Given the description of an element on the screen output the (x, y) to click on. 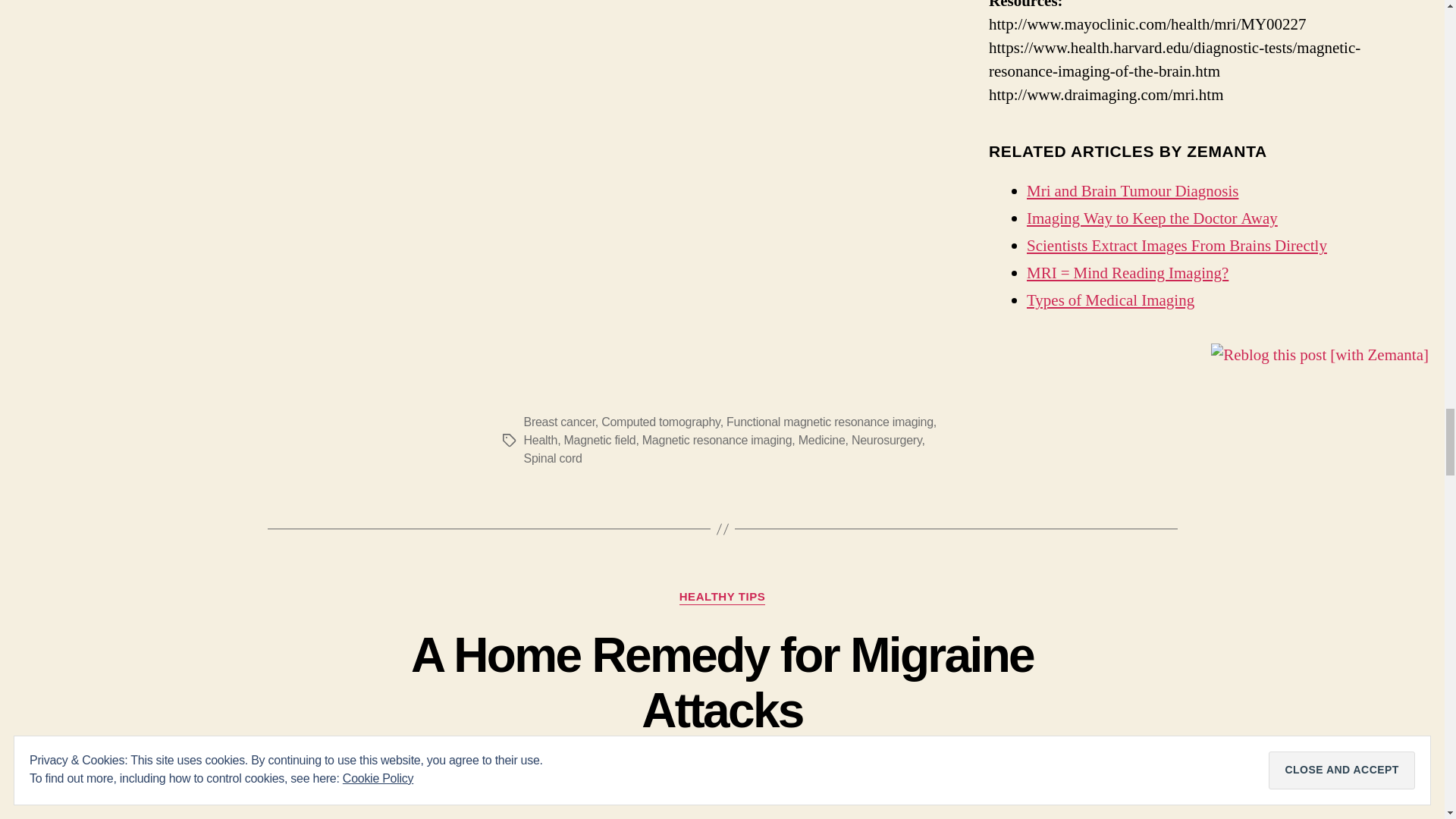
Mri and Brain Tumour Diagnosis (1132, 190)
Types of Medical Imaging (1109, 300)
Scientists Extract Images From Brains Directly (1176, 245)
Imaging Way to Keep the Doctor Away (1152, 218)
